Given the description of an element on the screen output the (x, y) to click on. 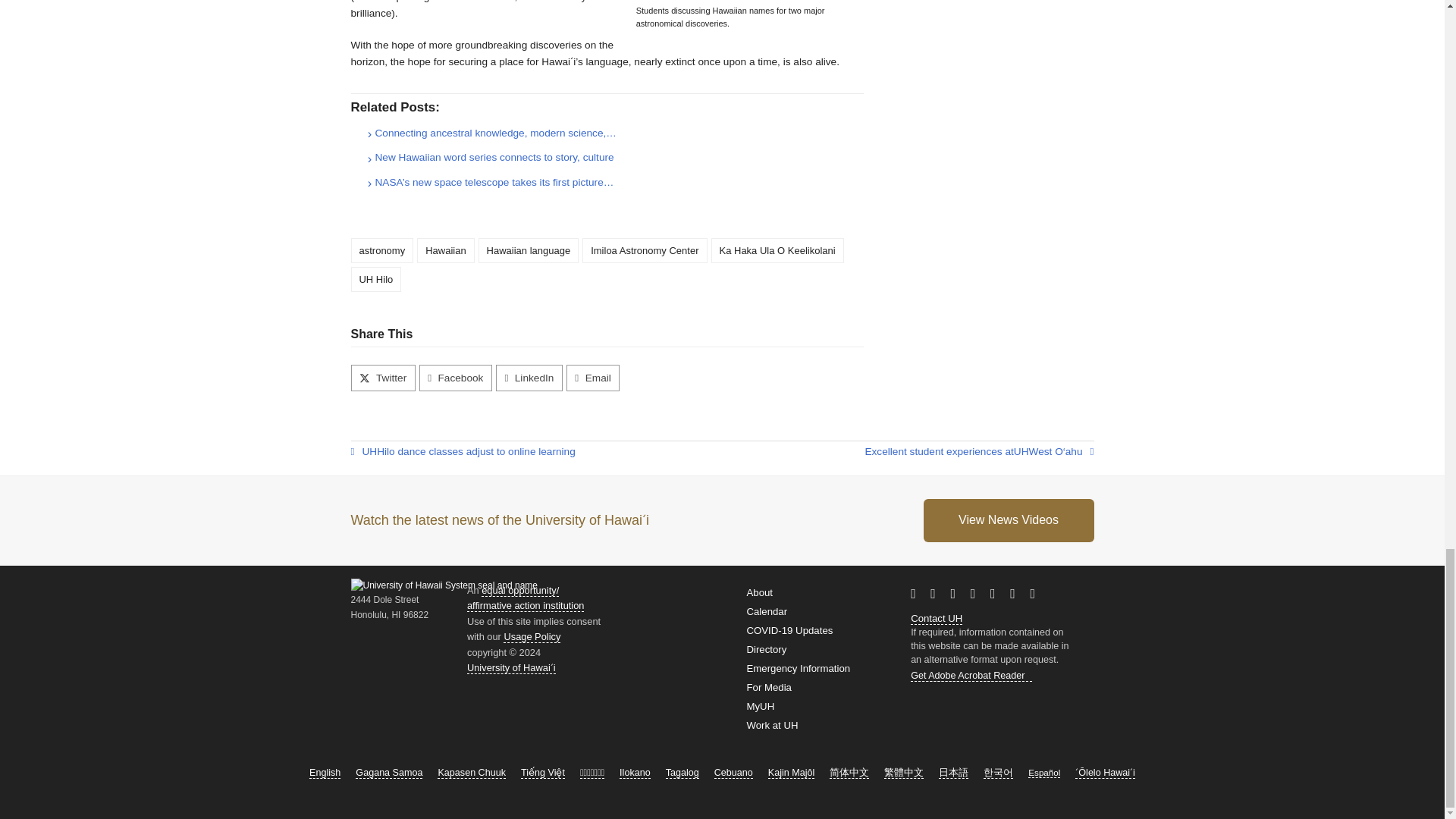
University of Hawaii (954, 618)
University of Hawaii (369, 451)
University of Hawaii (1021, 451)
UH System home (511, 667)
